Given the description of an element on the screen output the (x, y) to click on. 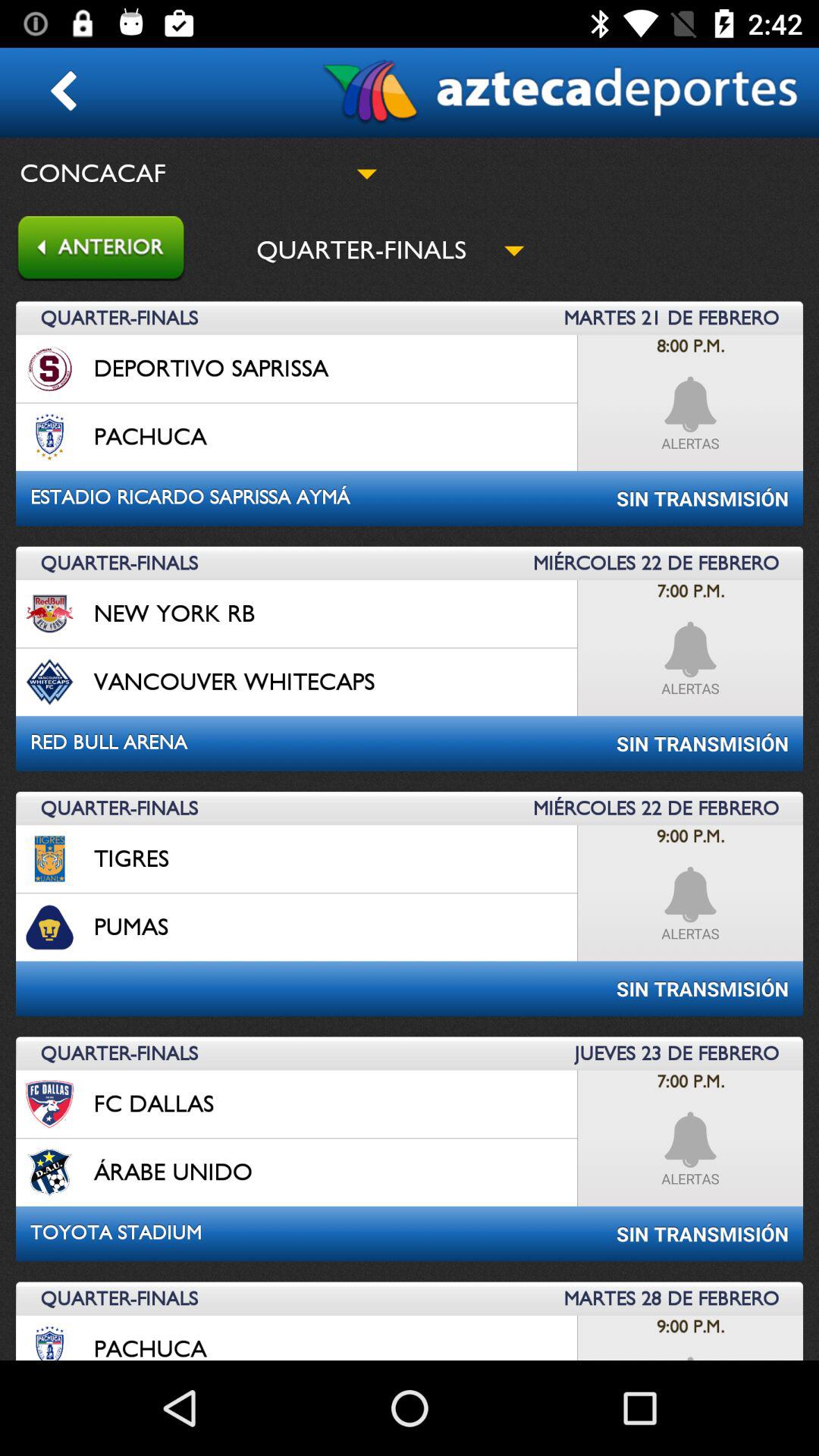
previous page (92, 249)
